Given the description of an element on the screen output the (x, y) to click on. 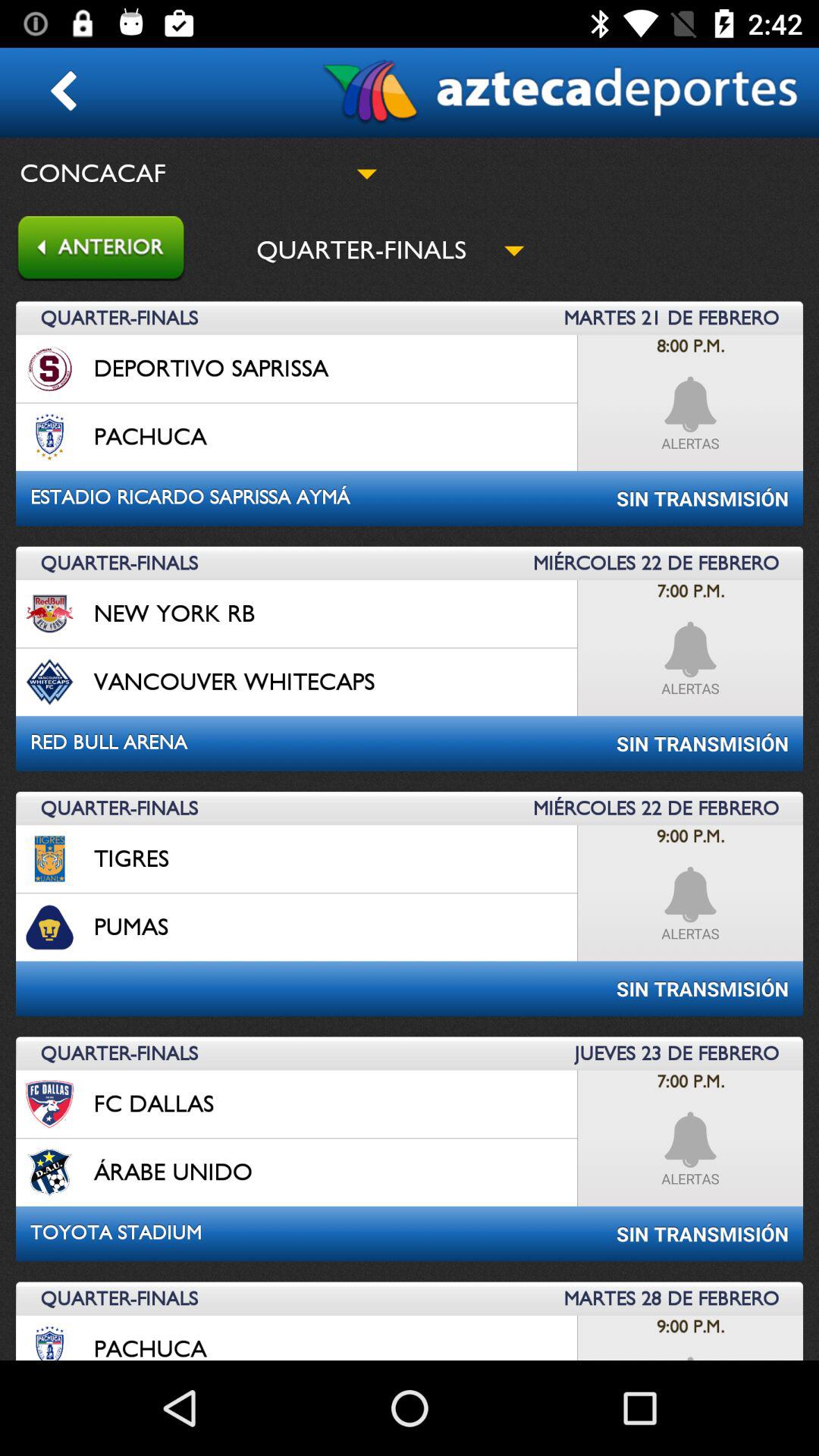
previous page (92, 249)
